Given the description of an element on the screen output the (x, y) to click on. 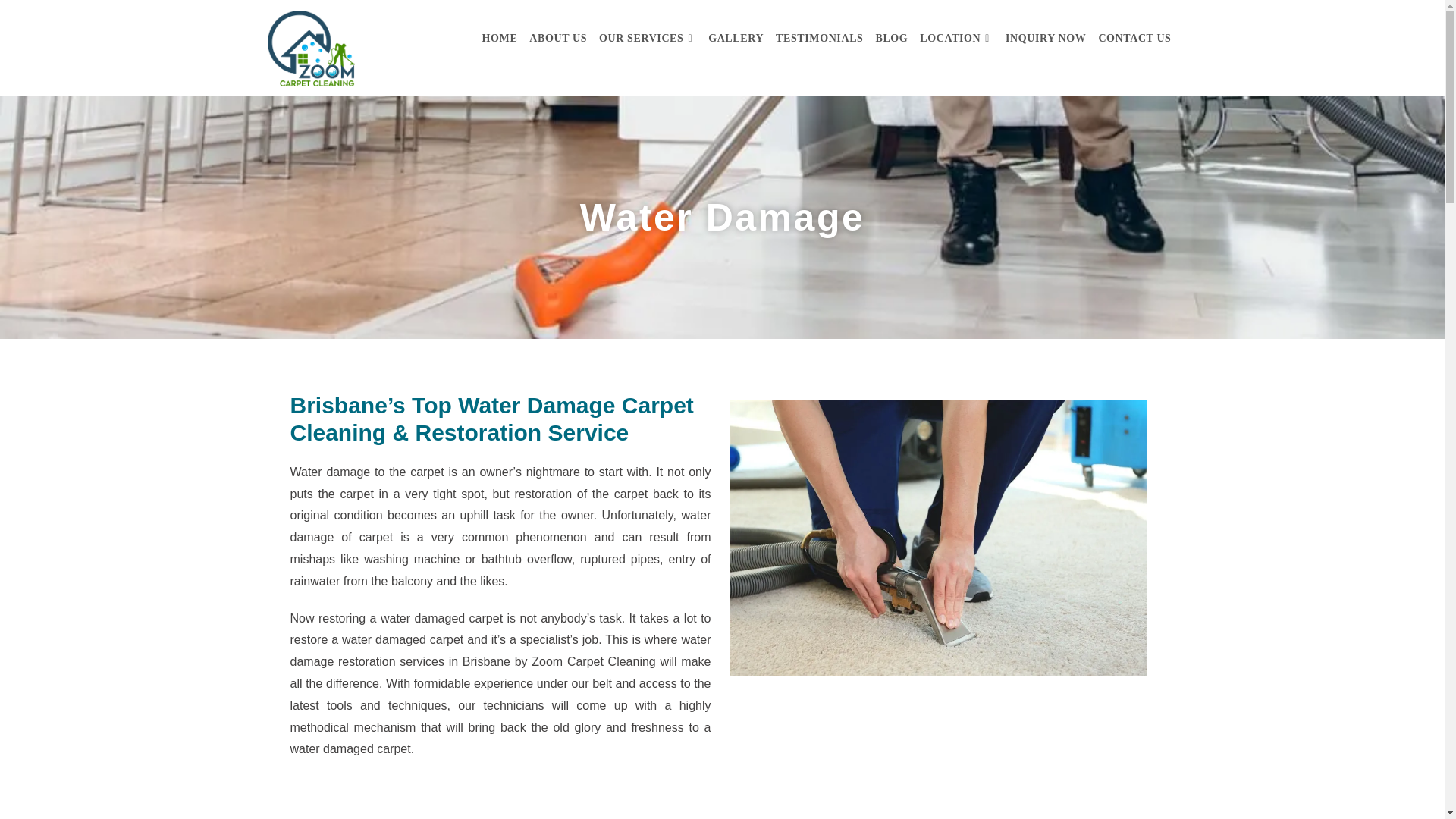
GALLERY (735, 38)
TESTIMONIALS (819, 38)
HOME (500, 38)
BLOG (891, 38)
OUR SERVICES (646, 38)
CONTACT US (1134, 38)
INQUIRY NOW (1045, 38)
ABOUT US (557, 38)
LOCATION (956, 38)
